Given the description of an element on the screen output the (x, y) to click on. 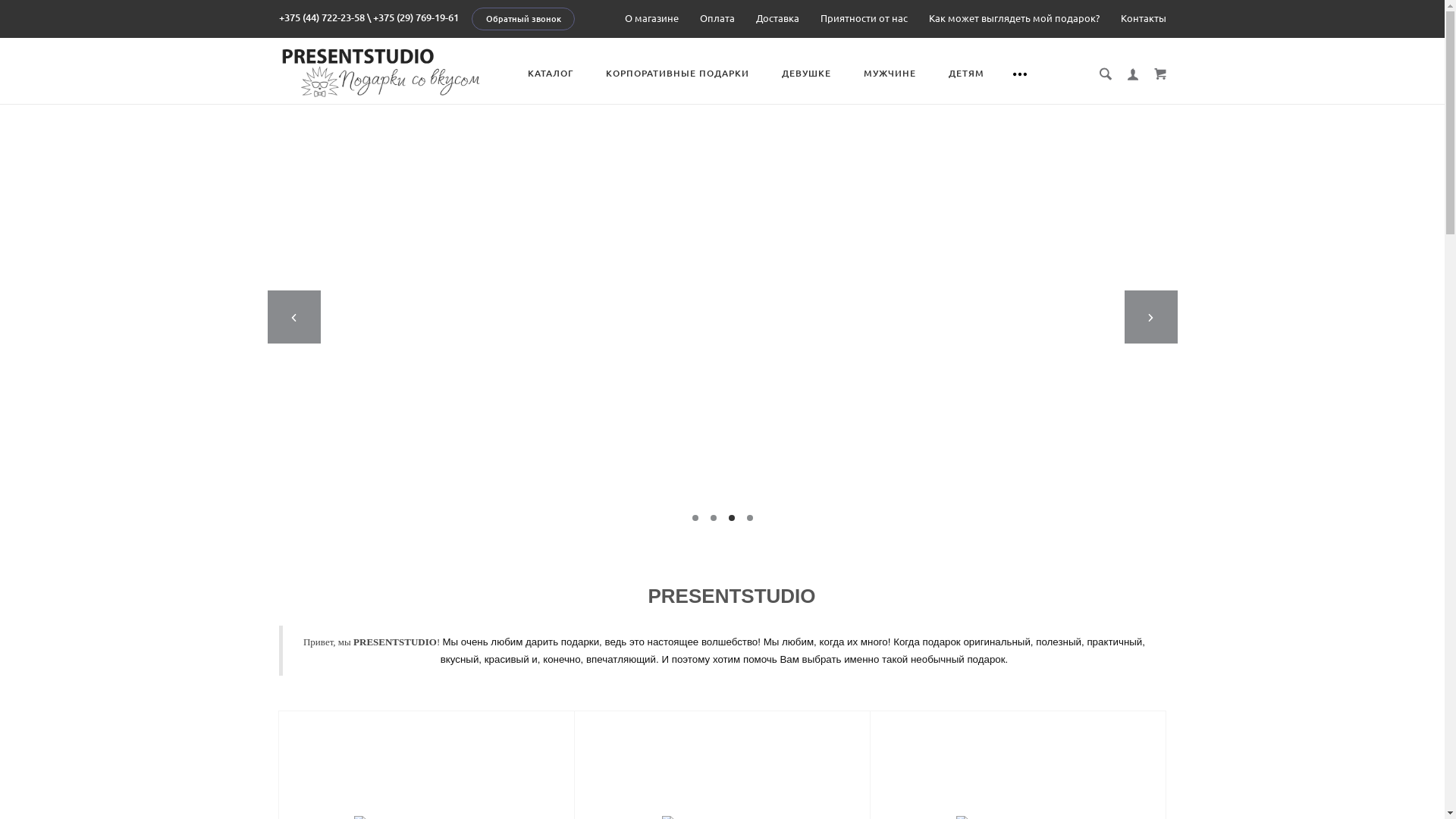
Presentstudio.by Element type: hover (380, 70)
2 Element type: text (712, 517)
4 Element type: text (749, 517)
3 Element type: text (731, 517)
+375 (29) 769-19-61 Element type: text (415, 17)
+375 (44) 722-23-58 Element type: text (321, 17)
1 Element type: text (694, 517)
